Given the description of an element on the screen output the (x, y) to click on. 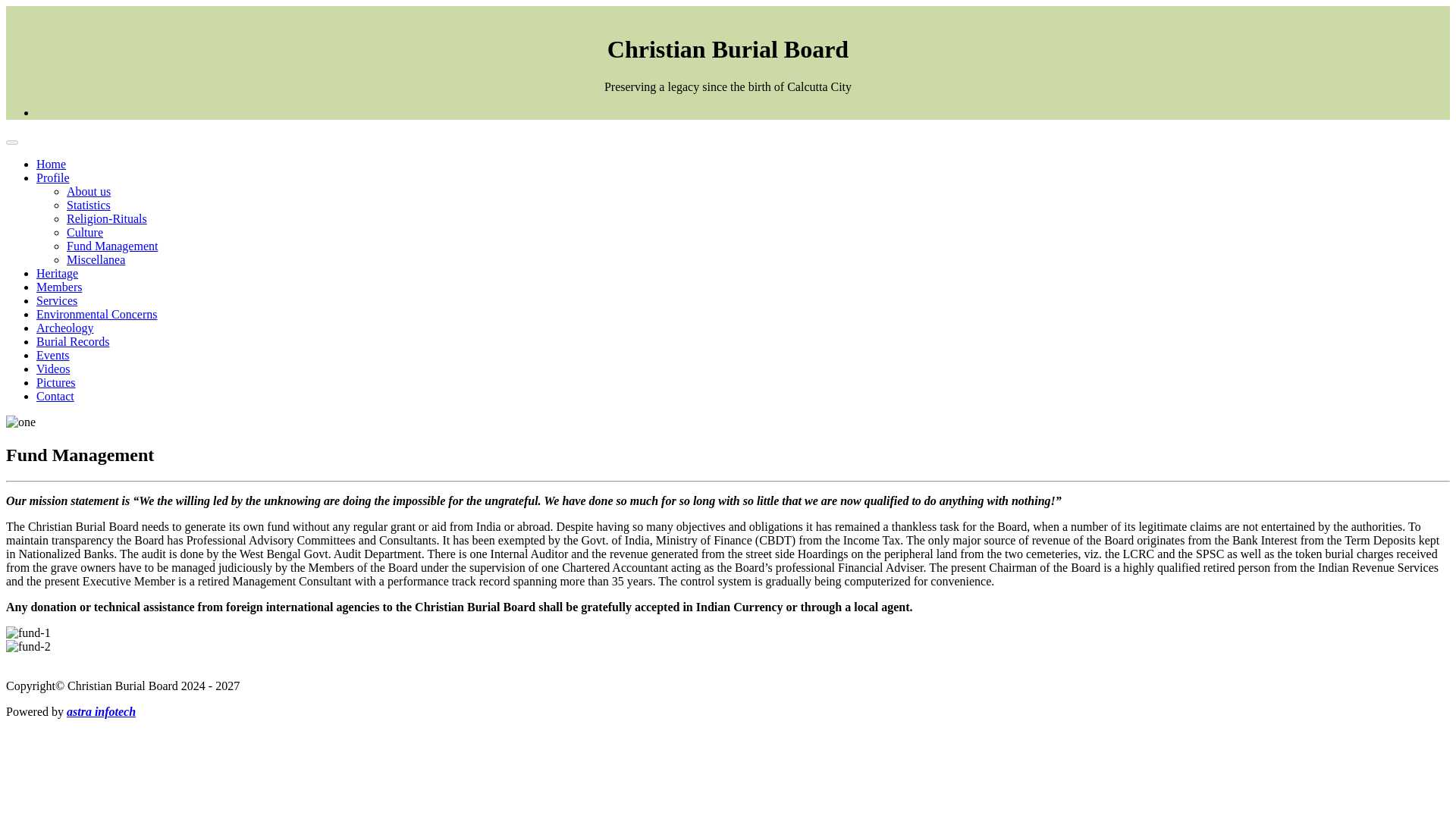
Miscellanea (95, 259)
Contact (55, 395)
Fund Management (111, 245)
Events (52, 354)
Culture (84, 232)
Archeology (65, 327)
Religion-Rituals (106, 218)
Home (50, 164)
Burial Records (72, 341)
Profile (52, 177)
Members (58, 286)
Environmental Concerns (96, 314)
Pictures (55, 382)
Services (56, 300)
Heritage (57, 273)
